Given the description of an element on the screen output the (x, y) to click on. 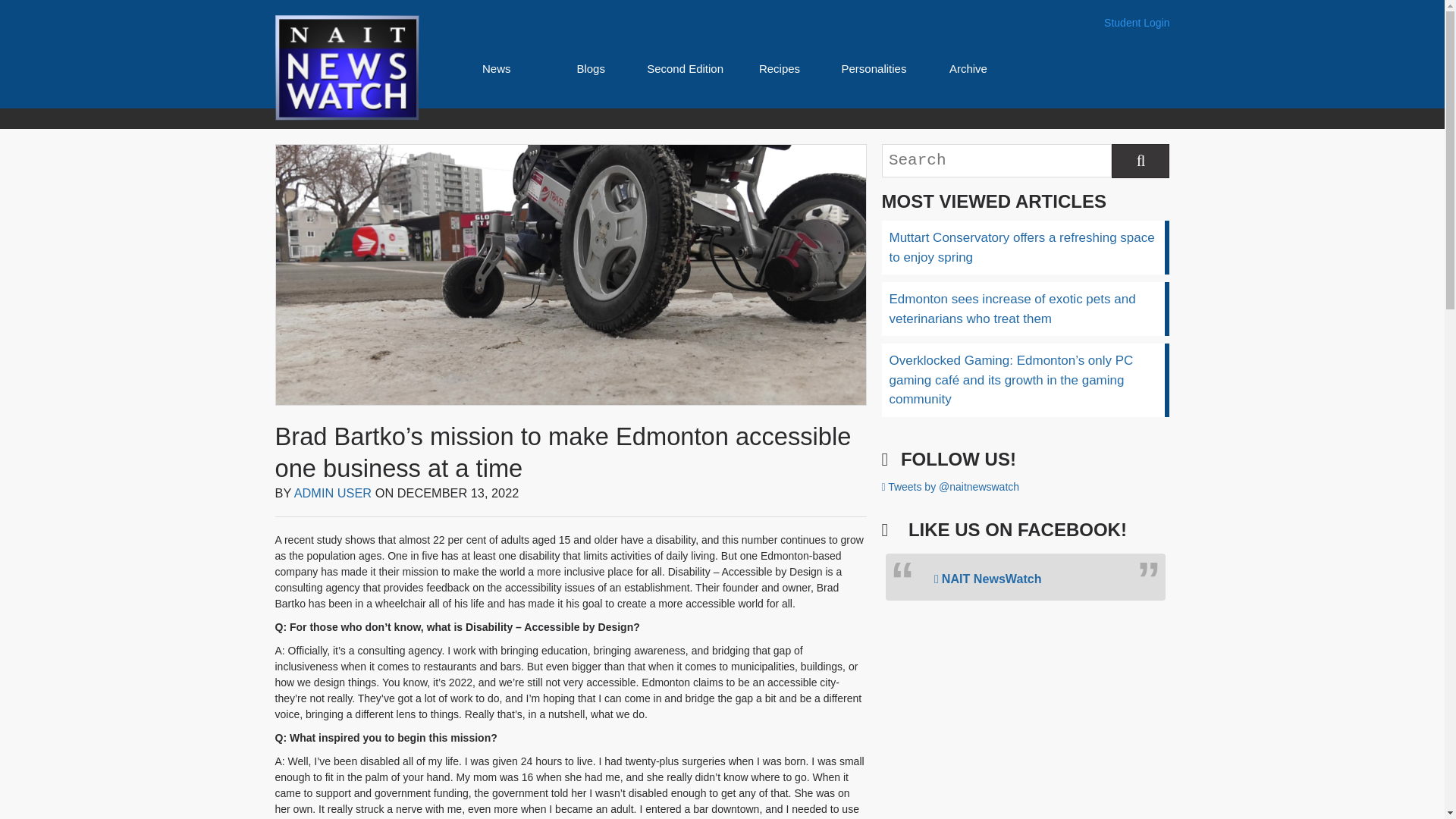
Student Login (1136, 23)
News (496, 68)
ADMIN USER (333, 492)
Blogs (590, 68)
Second Edition (684, 68)
NAIT NewsWatch (988, 578)
Archive (968, 68)
Recipes (778, 68)
